Given the description of an element on the screen output the (x, y) to click on. 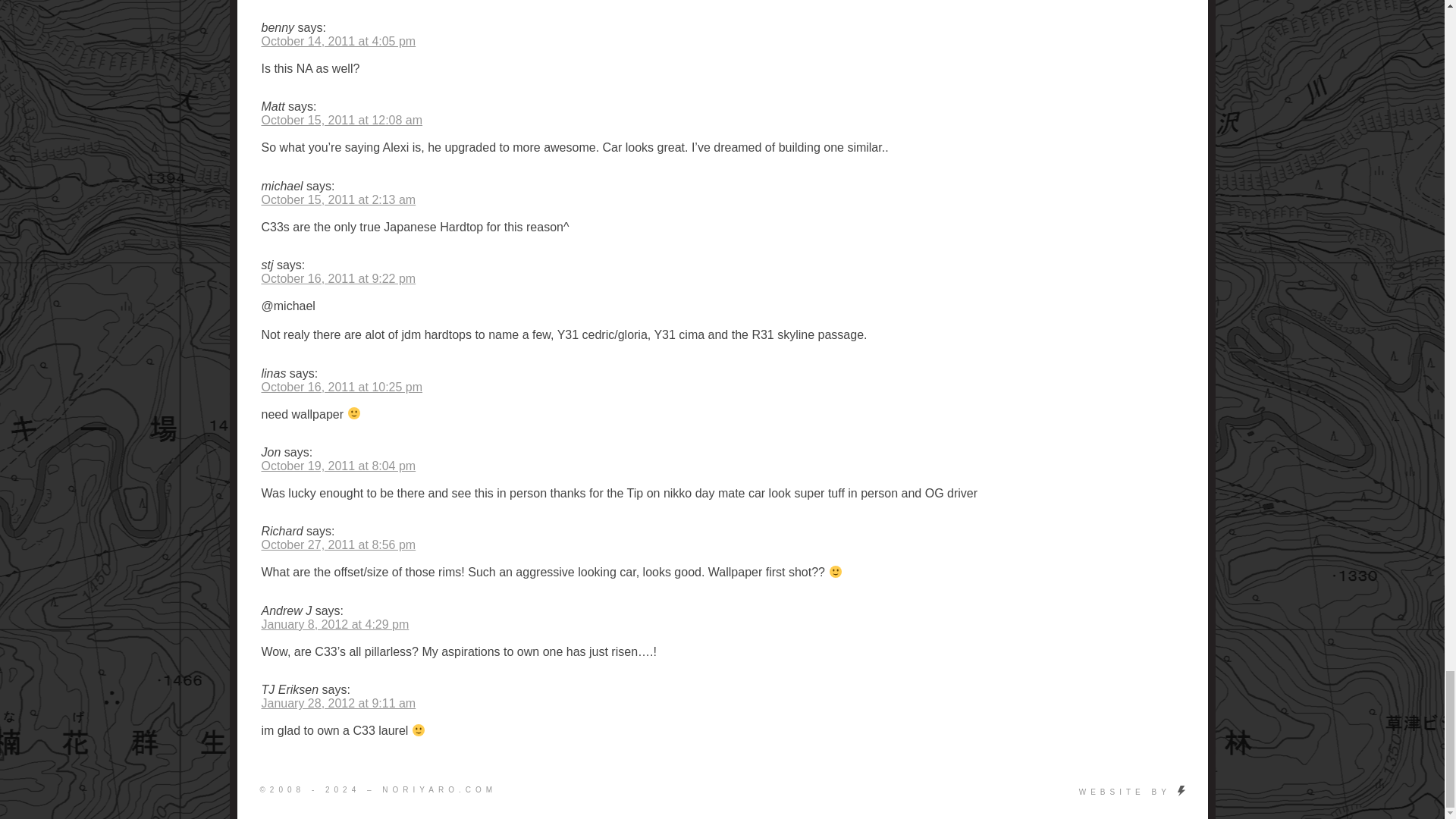
October 27, 2011 at 8:56 pm (337, 544)
January 28, 2012 at 9:11 am (337, 703)
October 15, 2011 at 12:08 am (341, 119)
October 16, 2011 at 10:25 pm (341, 386)
October 15, 2011 at 2:13 am (337, 199)
October 14, 2011 at 4:05 pm (337, 41)
October 19, 2011 at 8:04 pm (337, 465)
January 8, 2012 at 4:29 pm (334, 624)
October 16, 2011 at 9:22 pm (337, 278)
